Given the description of an element on the screen output the (x, y) to click on. 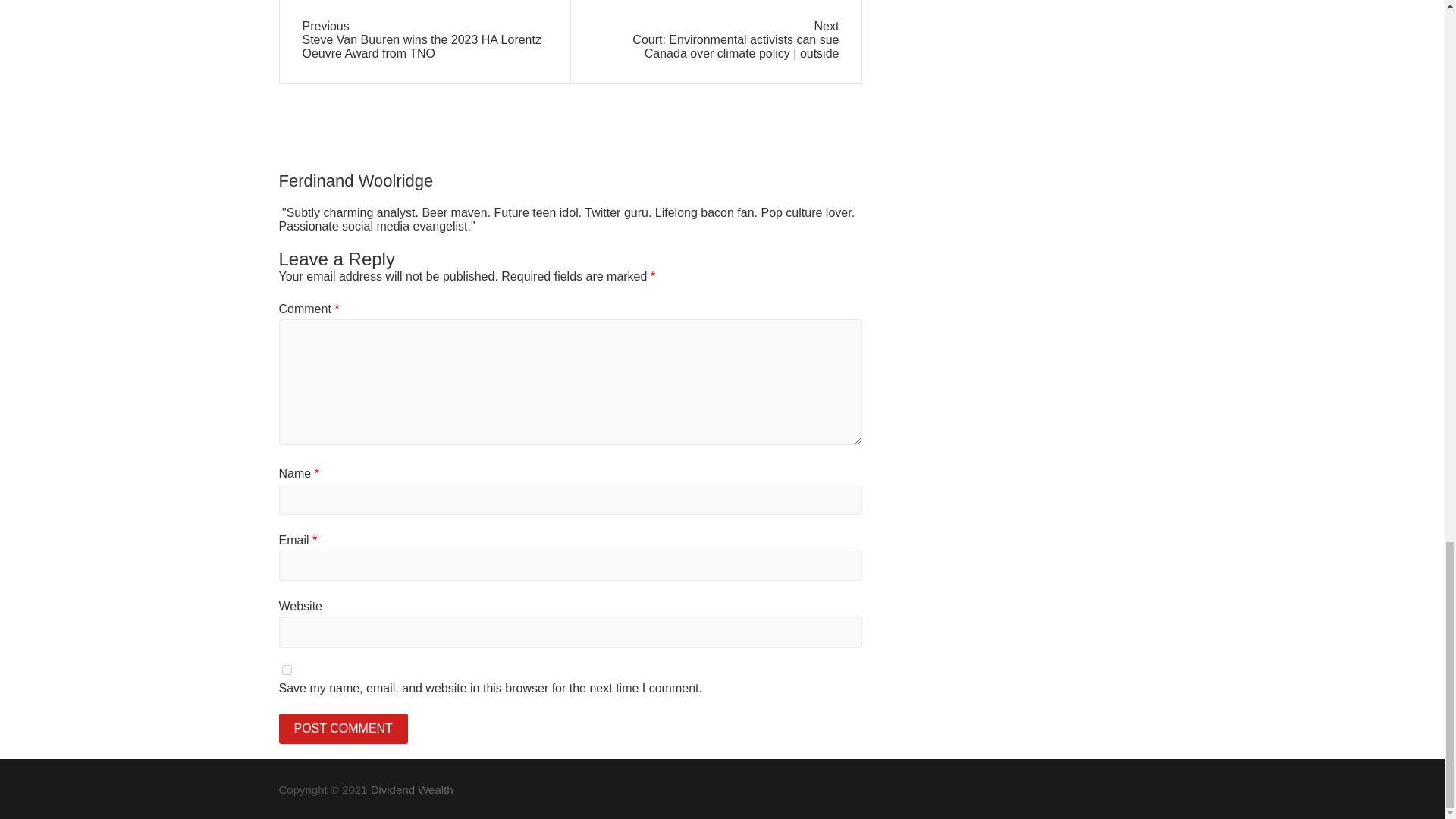
Dividend Wealth (411, 789)
Post Comment (343, 728)
Post Comment (343, 728)
yes (287, 669)
